Given the description of an element on the screen output the (x, y) to click on. 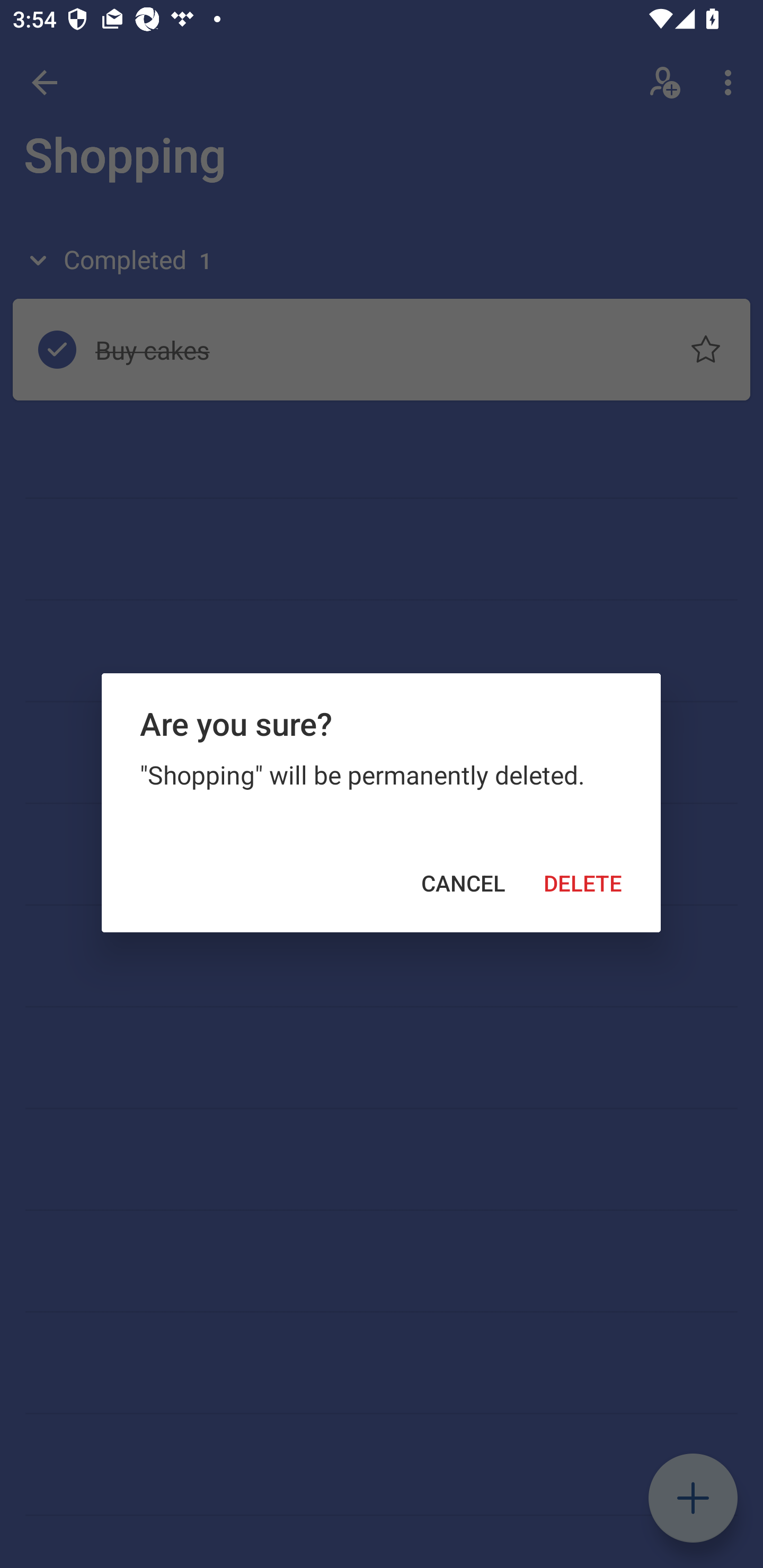
DELETE (582, 883)
